Given the description of an element on the screen output the (x, y) to click on. 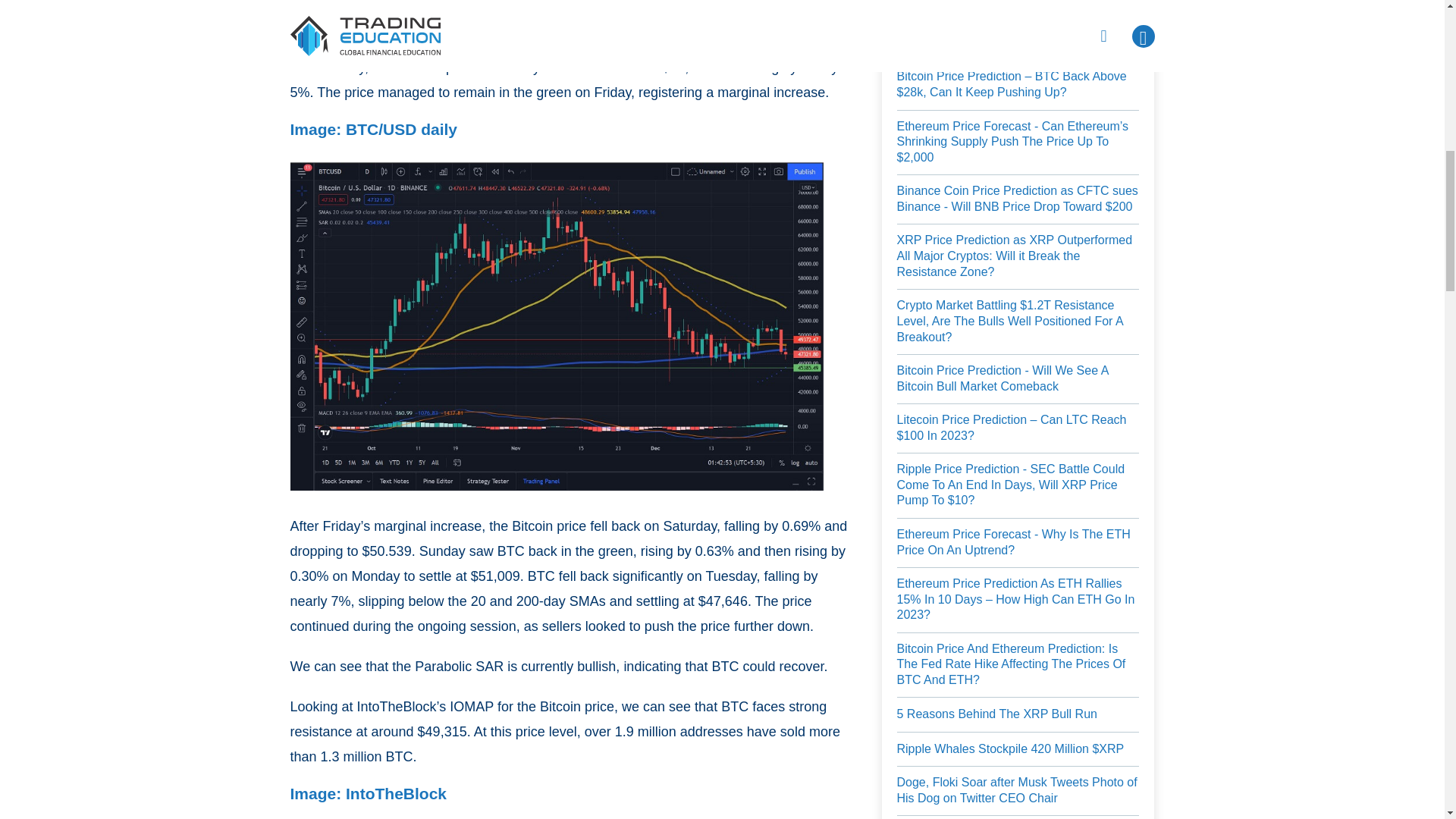
Shiba Inu Price Prediction - SHIB Faces Crucial Price Levels (1017, 34)
5 Reasons Behind The XRP Bull Run (996, 714)
